Given the description of an element on the screen output the (x, y) to click on. 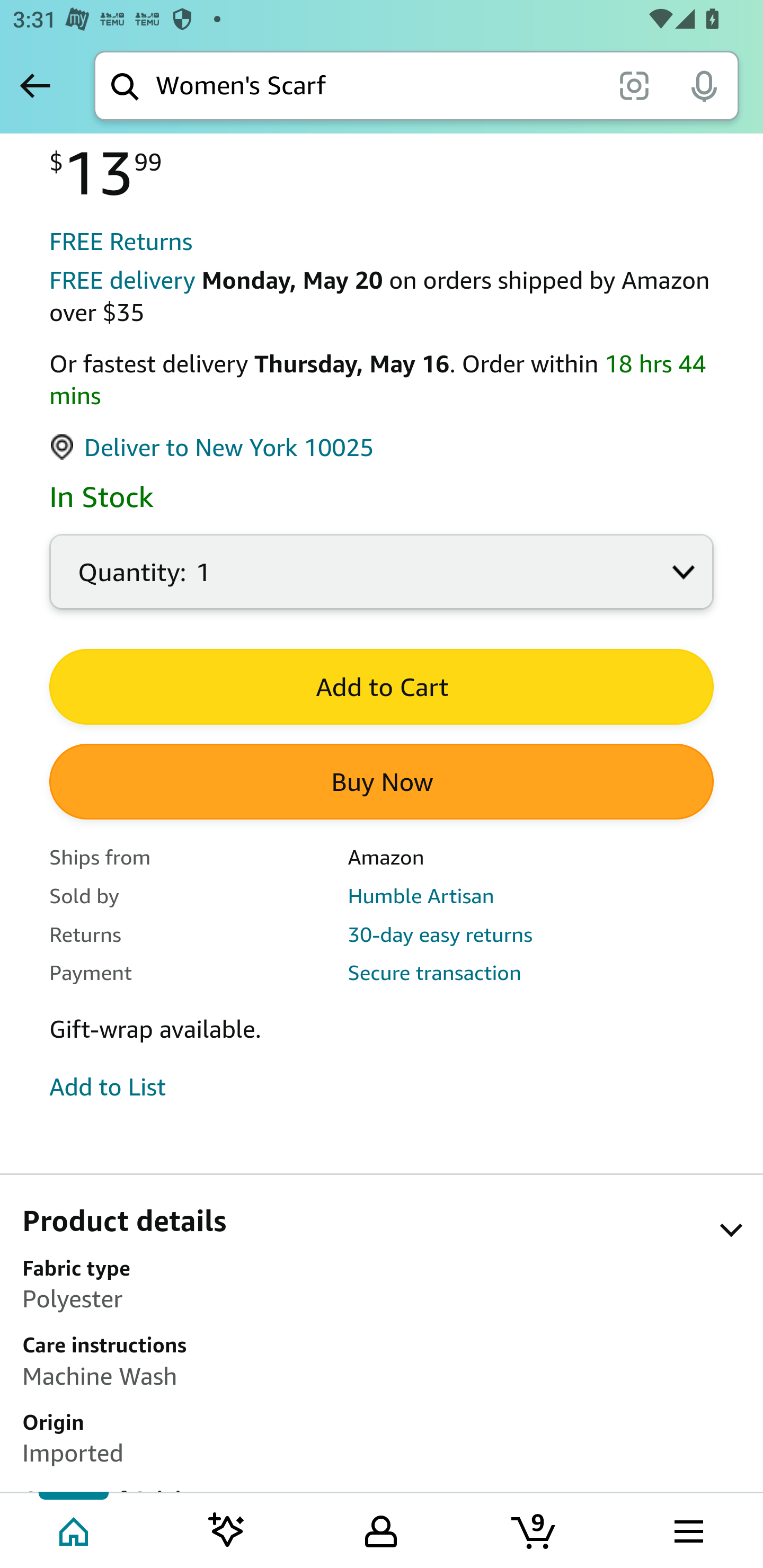
Back (35, 85)
scan it (633, 85)
FREE Returns (121, 241)
FREE delivery (122, 280)
Deliver to New York 10025‌ (212, 448)
1 (381, 582)
Add to Cart (381, 687)
Buy Now (381, 782)
Humble Artisan (420, 895)
Add to List (108, 1087)
Product details About this item (392, 1227)
Home Tab 1 of 5 (75, 1529)
Inspire feed Tab 2 of 5 (227, 1529)
Your Amazon.com Tab 3 of 5 (380, 1529)
Cart 9 items Tab 4 of 5 9 (534, 1529)
Browse menu Tab 5 of 5 (687, 1529)
